Given the description of an element on the screen output the (x, y) to click on. 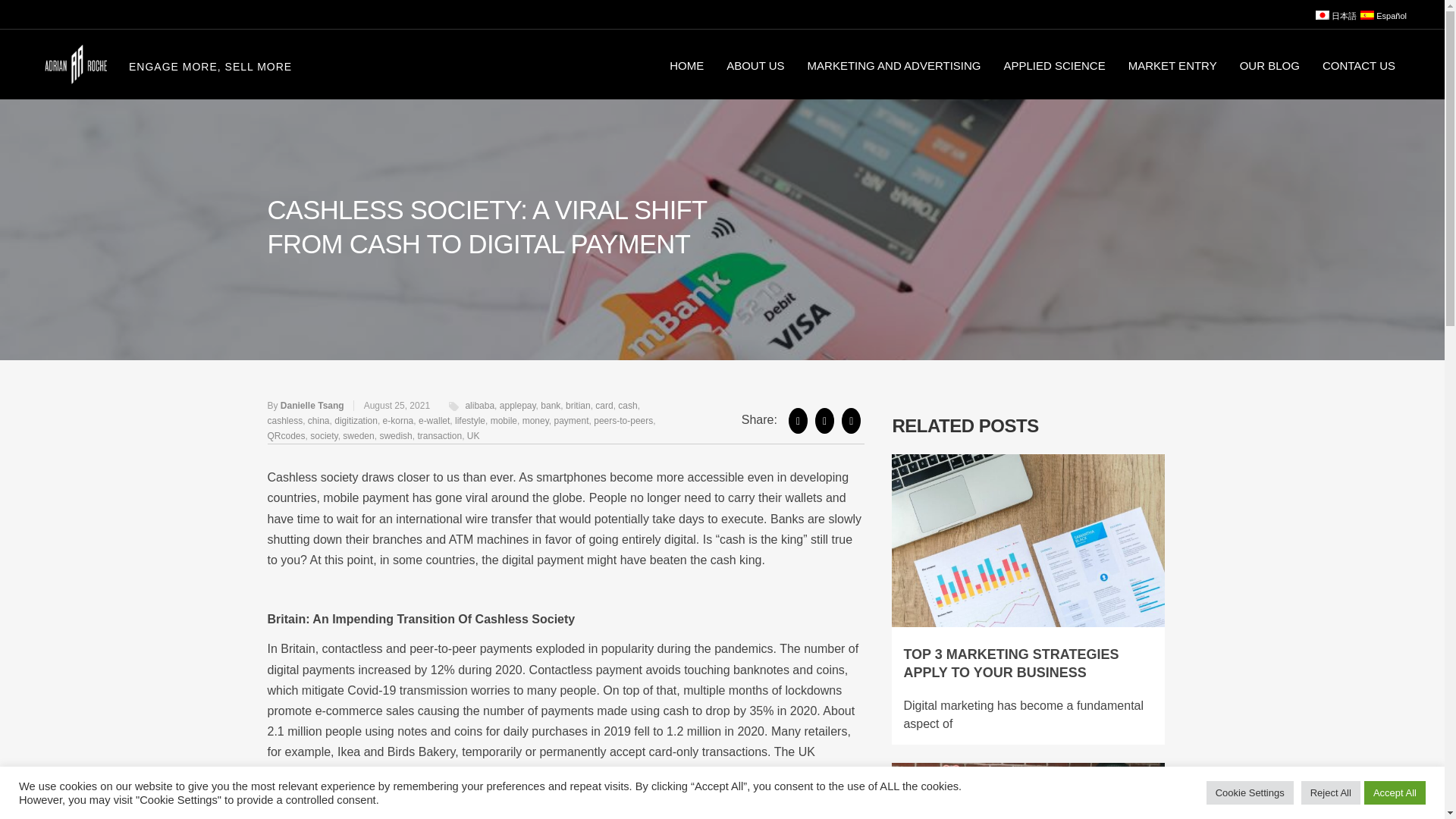
cash (627, 405)
bank (550, 405)
applepay (517, 405)
CONTACT US (1358, 64)
MARKETING AND ADVERTISING (894, 64)
britian (578, 405)
OUR BLOG (1269, 64)
ABOUT US (754, 64)
card (603, 405)
Adrian Roche KK (75, 64)
